Given the description of an element on the screen output the (x, y) to click on. 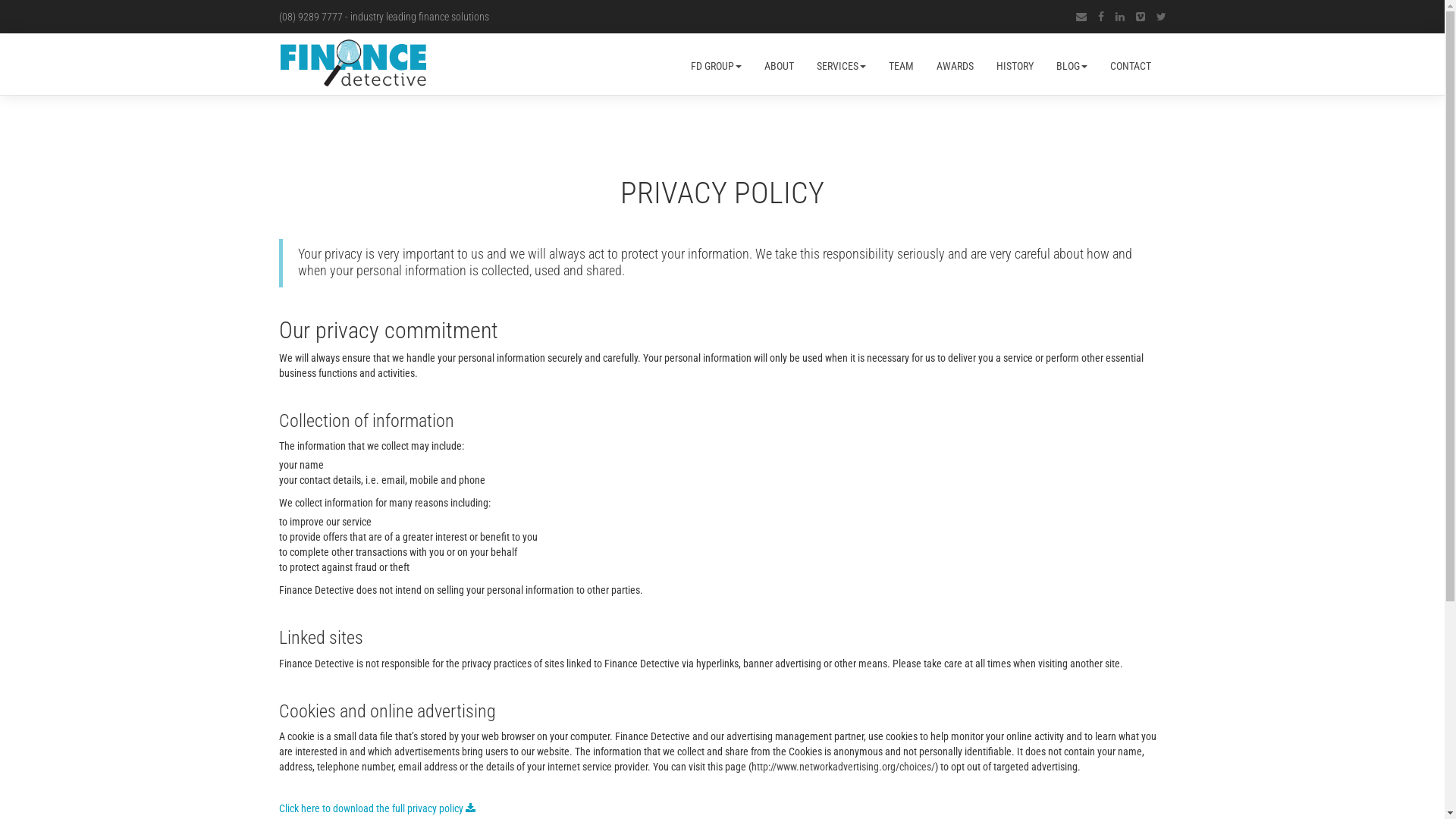
HISTORY Element type: text (1014, 64)
BLOG Element type: text (1071, 64)
Click here to download the full privacy policy Element type: text (377, 808)
FD GROUP Element type: text (721, 64)
AWARDS Element type: text (955, 64)
CONTACT Element type: text (1124, 64)
http://www.networkadvertising.org/choices/ Element type: text (842, 766)
SERVICES Element type: text (841, 64)
TEAM Element type: text (900, 64)
ABOUT Element type: text (778, 64)
